Given the description of an element on the screen output the (x, y) to click on. 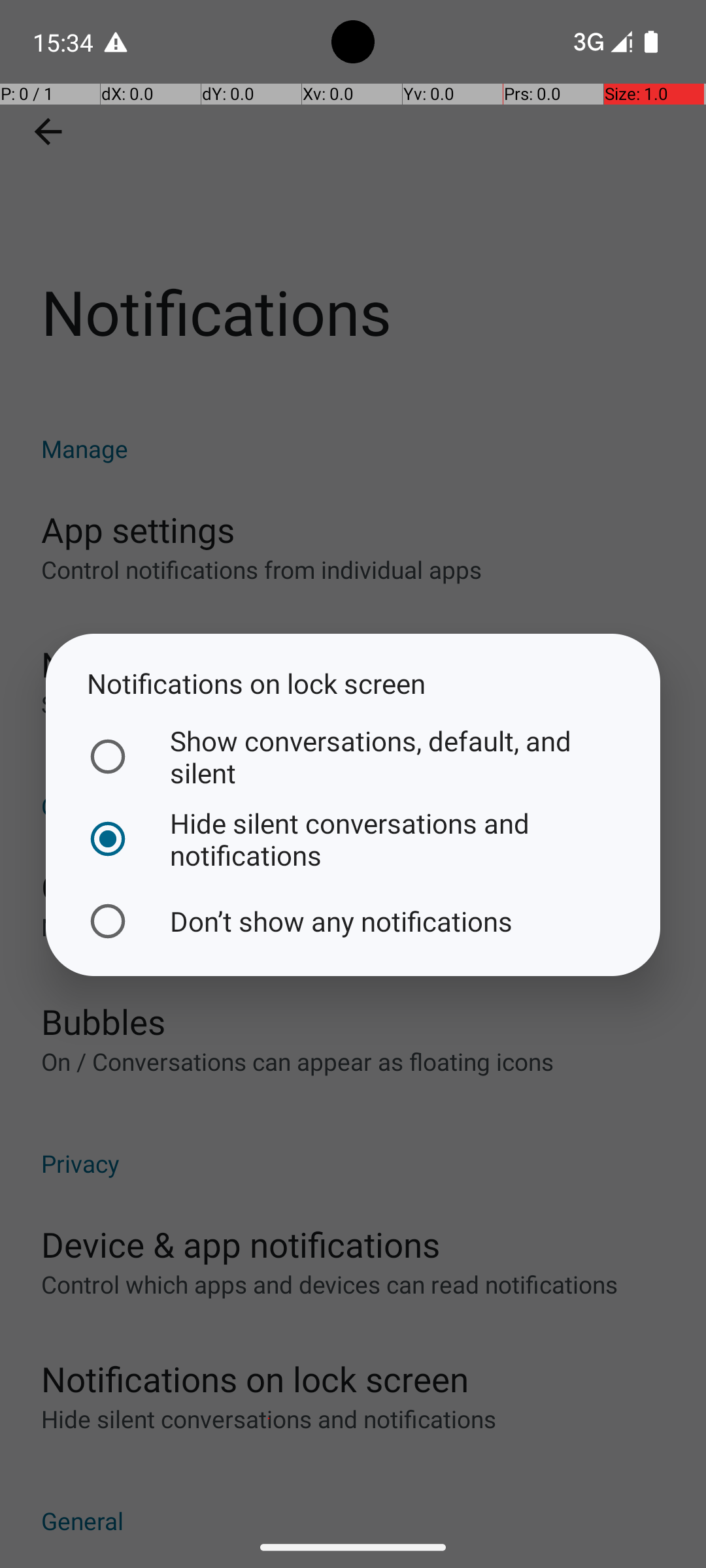
Notifications on lock screen Element type: android.widget.TextView (352, 682)
Show conversations, default, and silent Element type: android.widget.CheckedTextView (349, 756)
Hide silent conversations and notifications Element type: android.widget.CheckedTextView (349, 838)
Don’t show any notifications Element type: android.widget.CheckedTextView (349, 920)
